Given the description of an element on the screen output the (x, y) to click on. 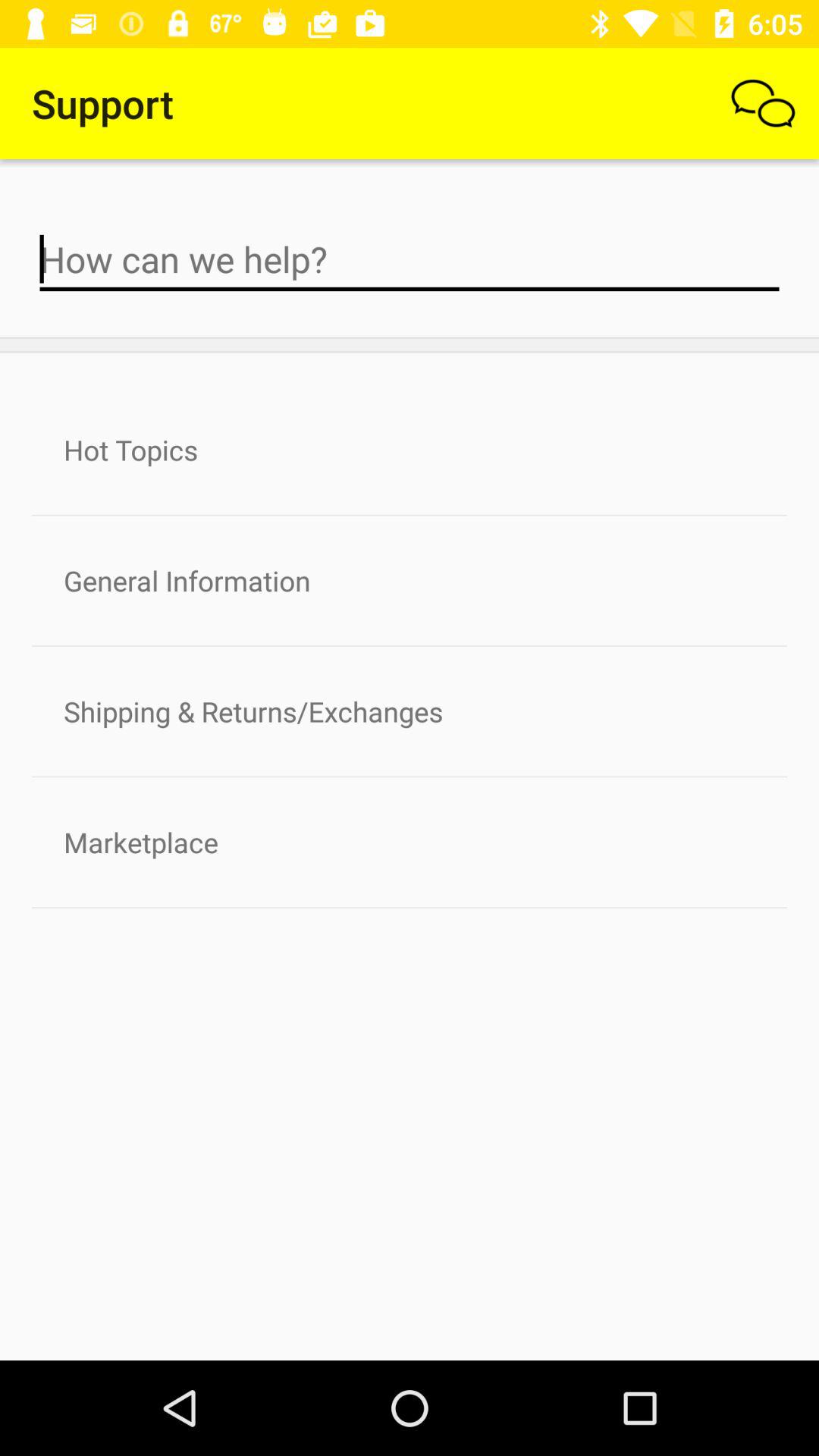
jump until the marketplace item (409, 842)
